Given the description of an element on the screen output the (x, y) to click on. 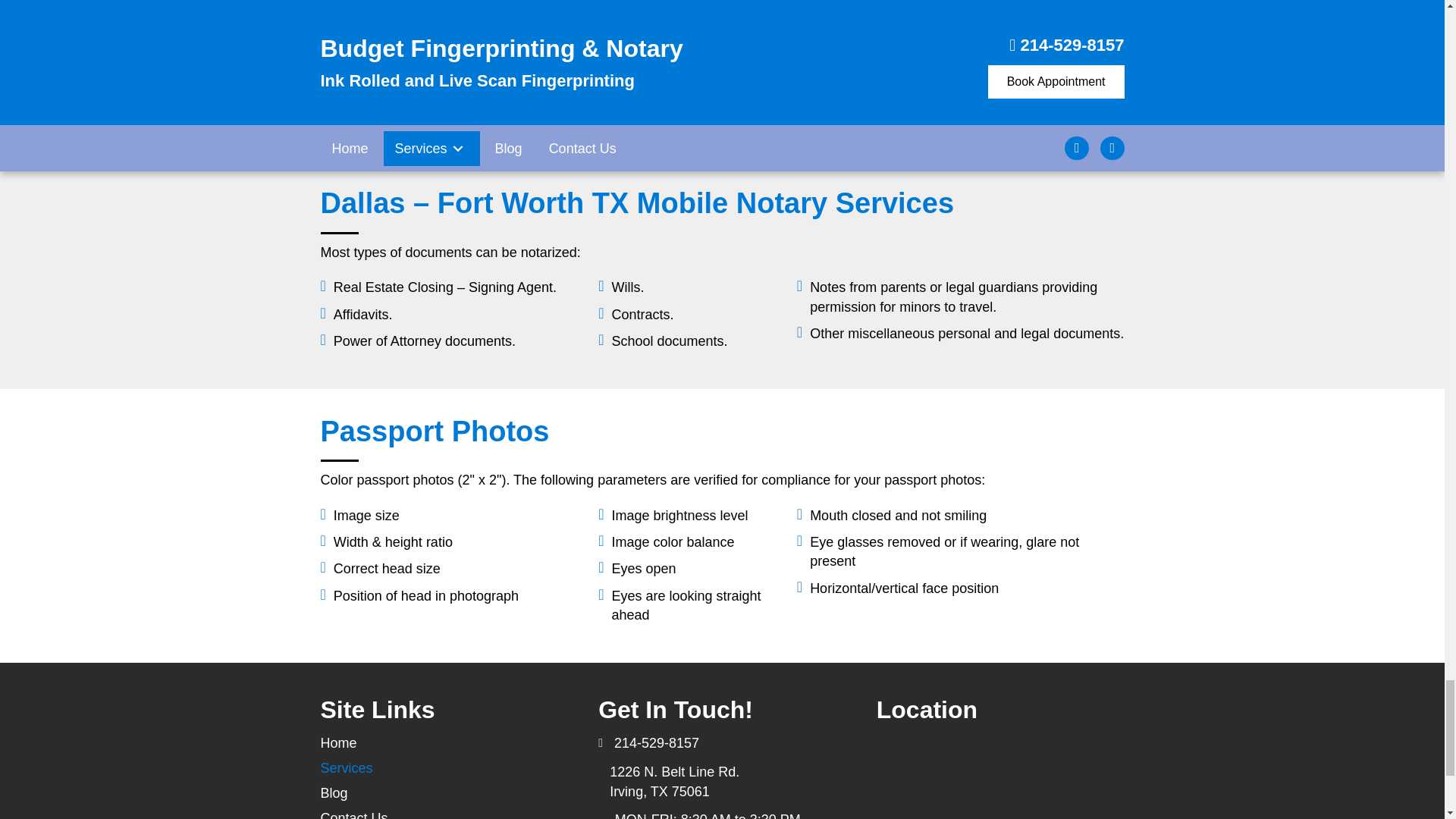
214-529-8157 (656, 743)
Contact Us (353, 812)
Services (346, 767)
Home (338, 743)
Blog (333, 793)
